Given the description of an element on the screen output the (x, y) to click on. 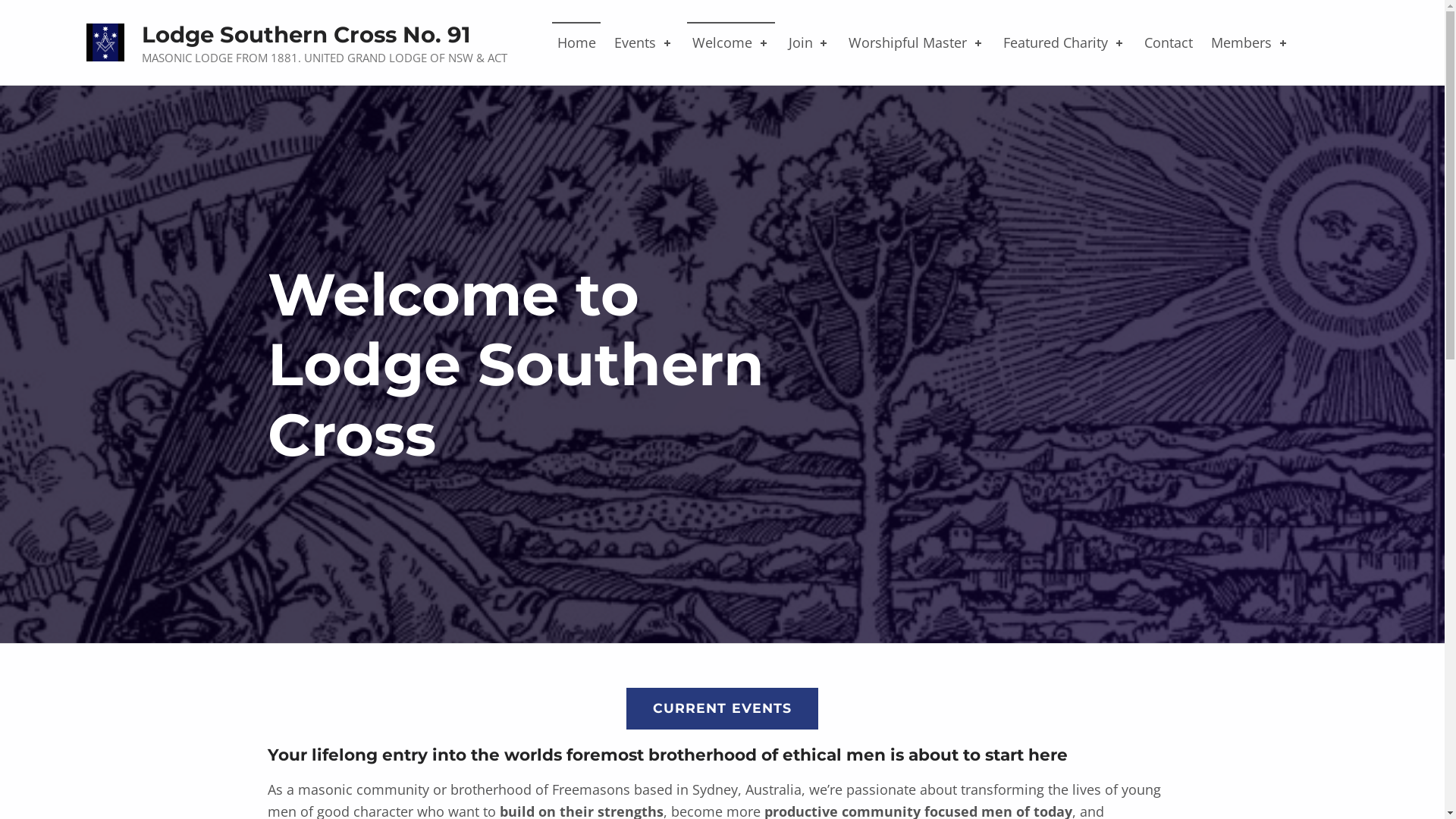
Featured Charity Element type: text (1063, 41)
Home Element type: text (576, 41)
Welcome Element type: text (731, 41)
CURRENT EVENTS Element type: text (721, 708)
Contact Element type: text (1168, 41)
Worshipful Master Element type: text (916, 41)
Join Element type: text (809, 41)
Members Element type: text (1250, 41)
Events Element type: text (644, 41)
